Given the description of an element on the screen output the (x, y) to click on. 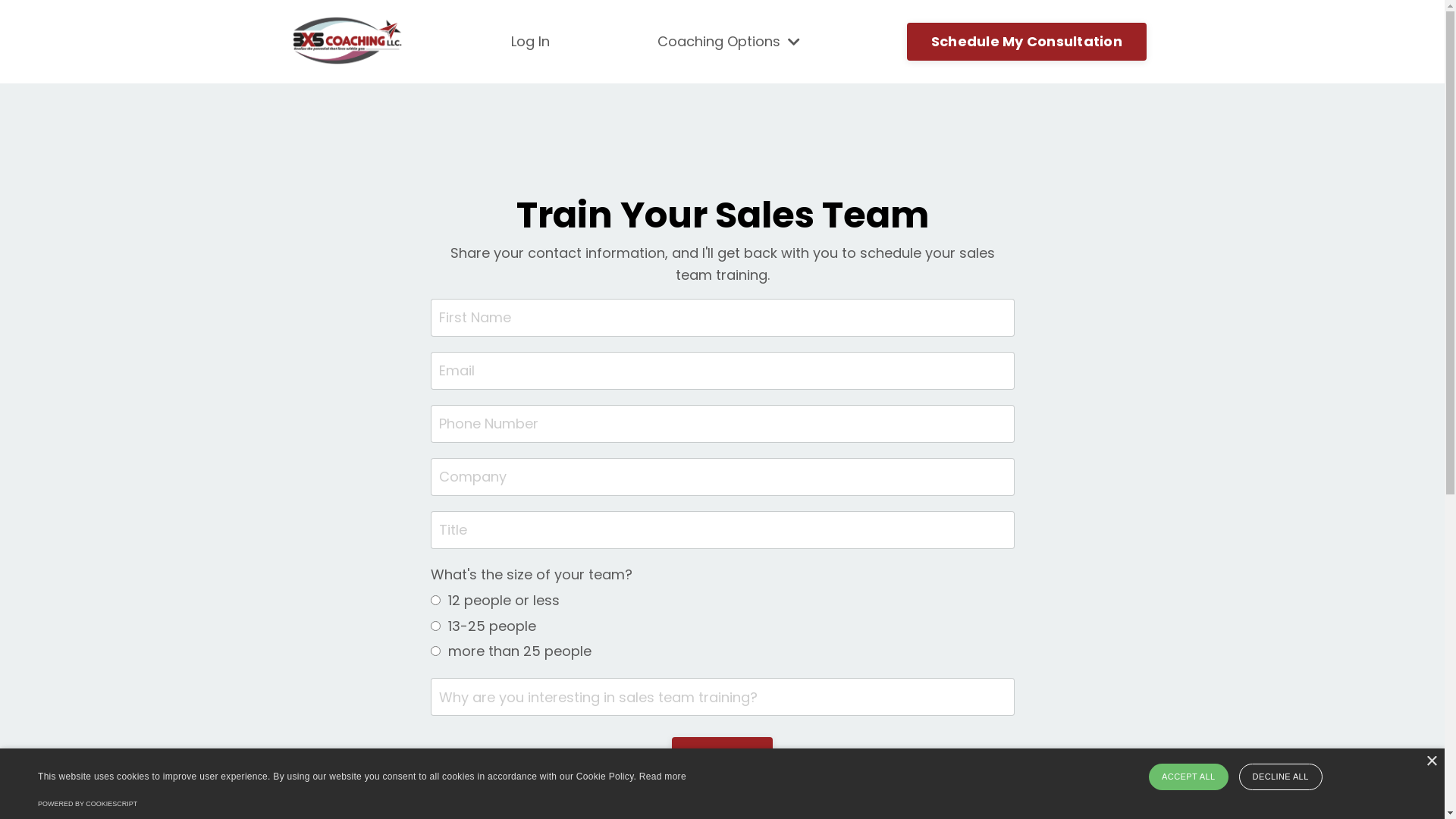
Schedule My Consultation Element type: text (1026, 41)
POWERED BY COOKIESCRIPT Element type: text (87, 803)
Log In Element type: text (530, 40)
Read more Element type: text (662, 776)
Coaching Options Element type: text (728, 41)
Submit Element type: text (722, 756)
